Given the description of an element on the screen output the (x, y) to click on. 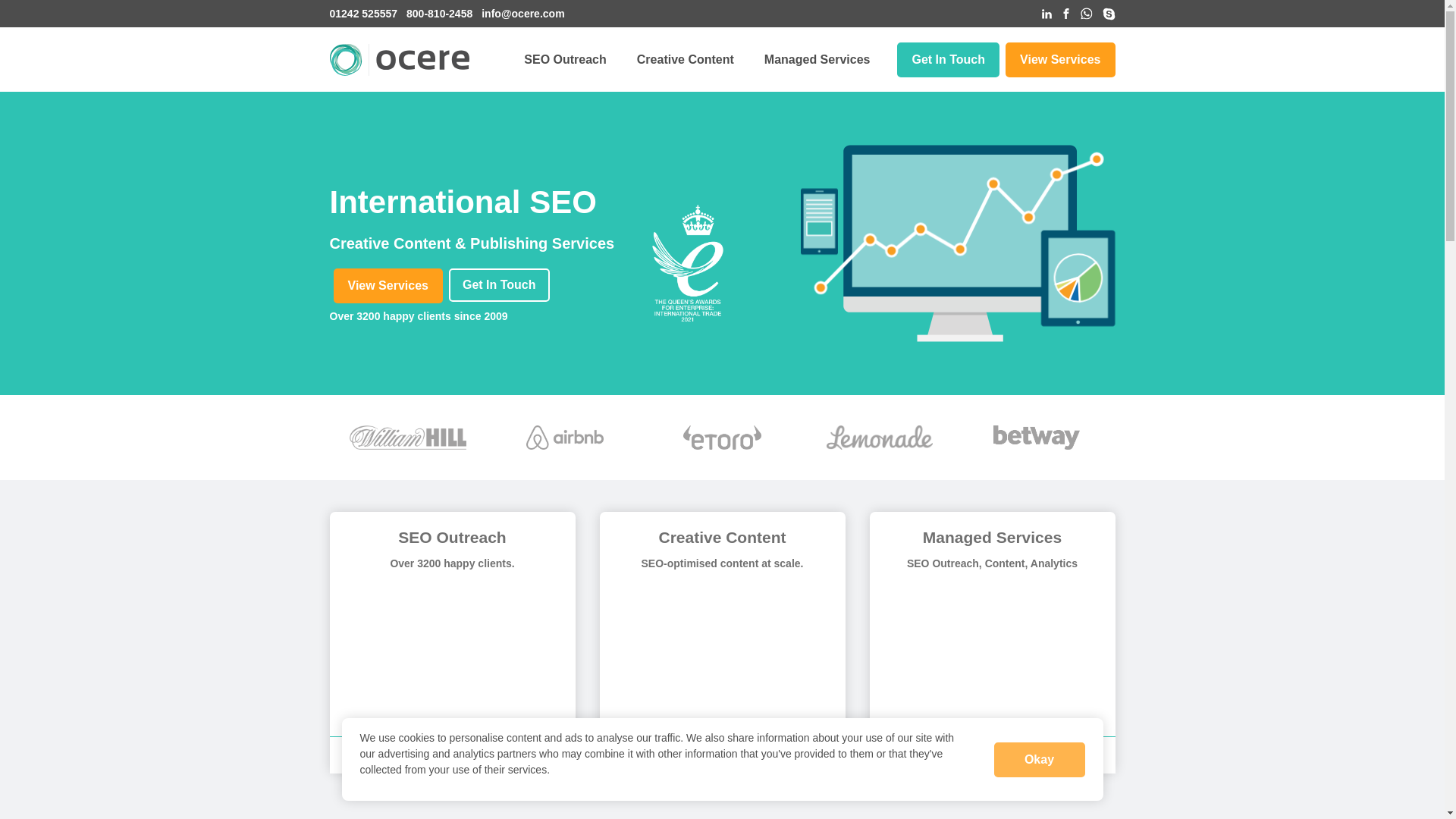
View Services (1060, 59)
SEO Outreach (564, 59)
800-810-2458 (438, 13)
Creative Content (684, 59)
Managed Services (817, 59)
01242 525557 (363, 13)
Get In Touch (499, 285)
View Services (387, 285)
Get In Touch (947, 59)
